Given the description of an element on the screen output the (x, y) to click on. 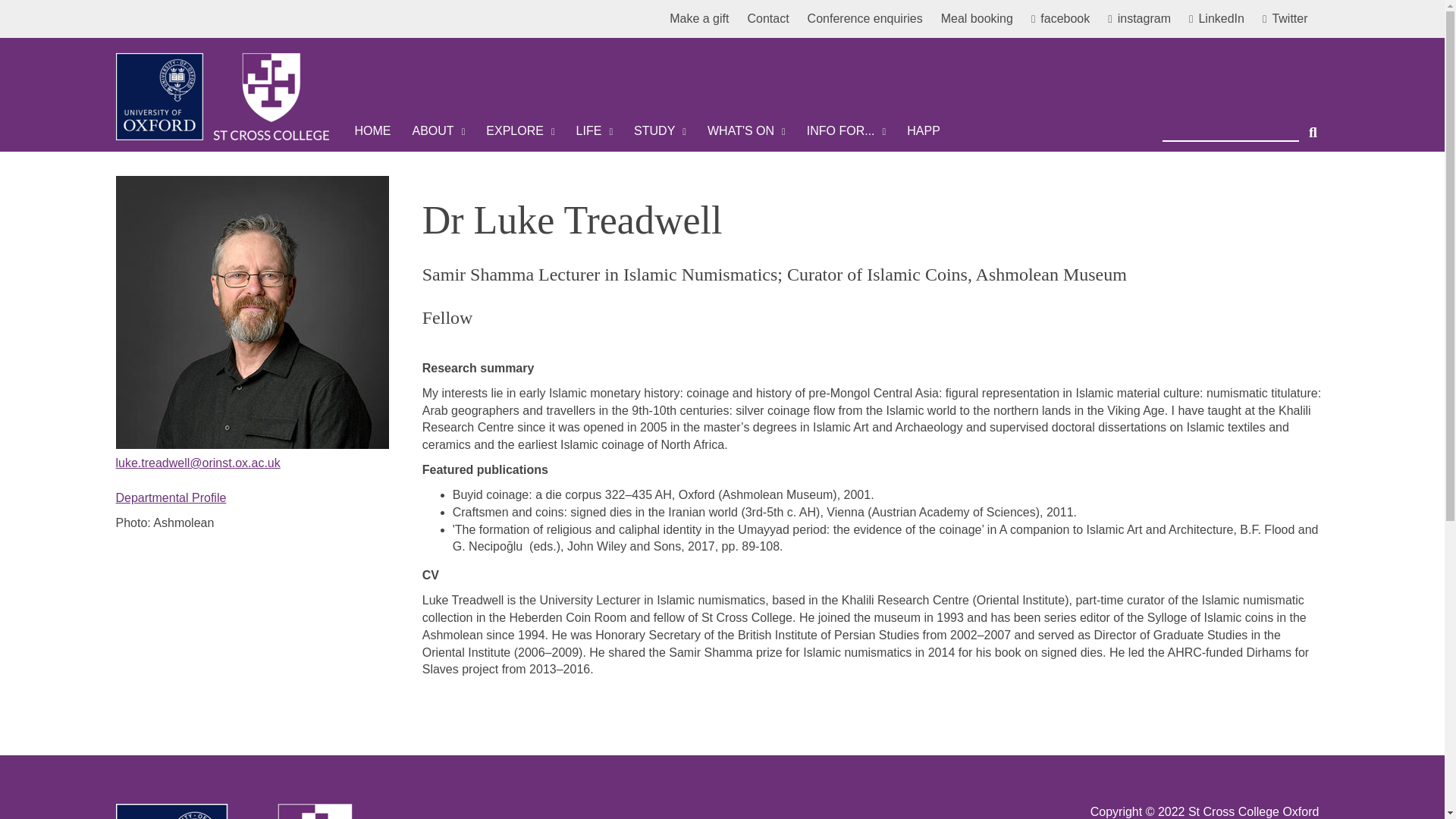
Contact (773, 19)
facebook (1066, 19)
LinkedIn (1222, 19)
ABOUT (438, 131)
HOME (372, 131)
Enter the terms you wish to search for (1229, 126)
Meal booking (976, 19)
Search (1312, 126)
Contact (773, 19)
Luke treadwell (251, 312)
instagram (1145, 19)
Conference enquiries (871, 19)
Twitter (1284, 19)
EXPLORE (520, 131)
Make a gift (705, 19)
